Given the description of an element on the screen output the (x, y) to click on. 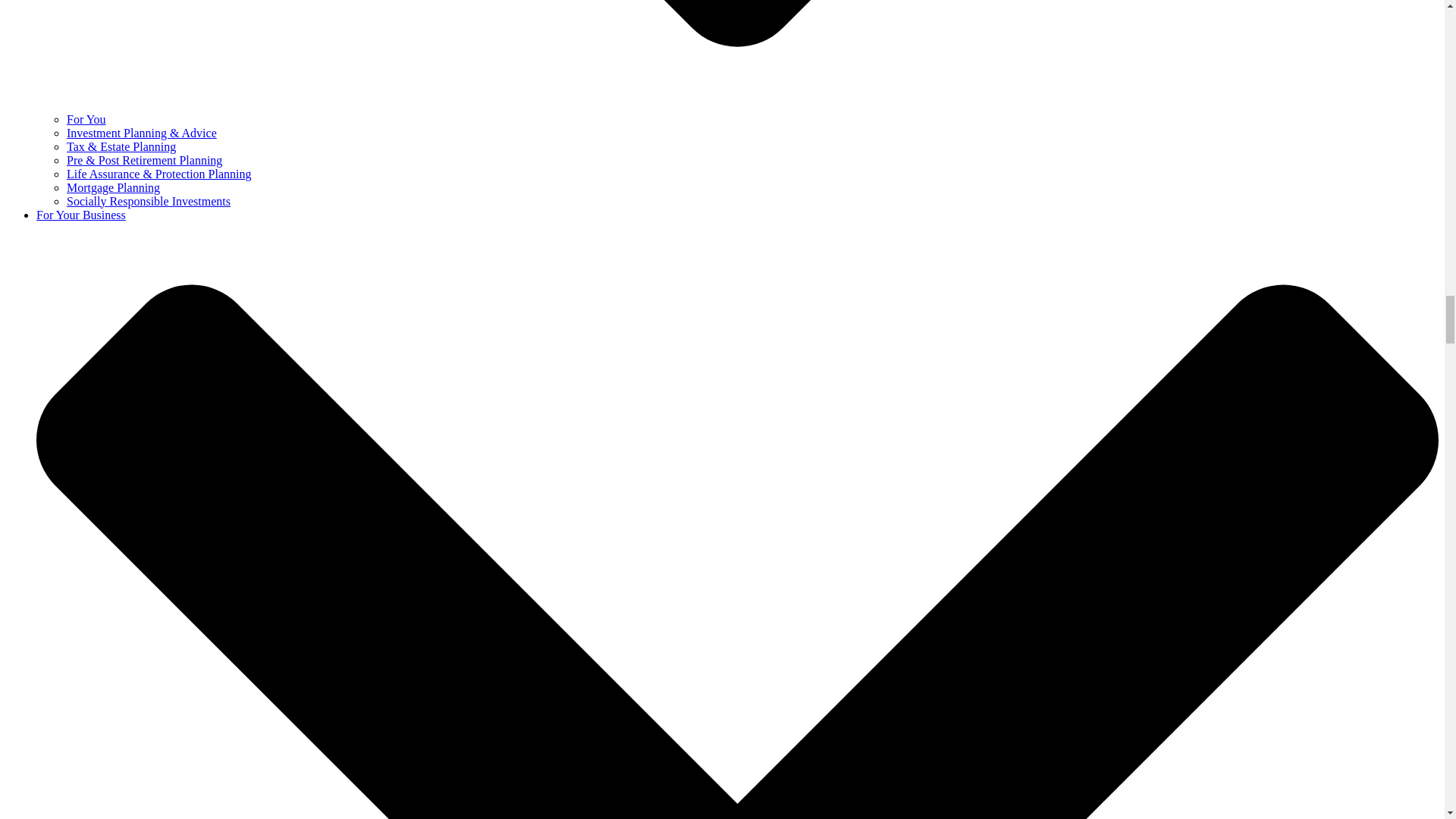
Mortgage Planning (113, 187)
For You (86, 119)
Socially Responsible Investments (148, 201)
